Given the description of an element on the screen output the (x, y) to click on. 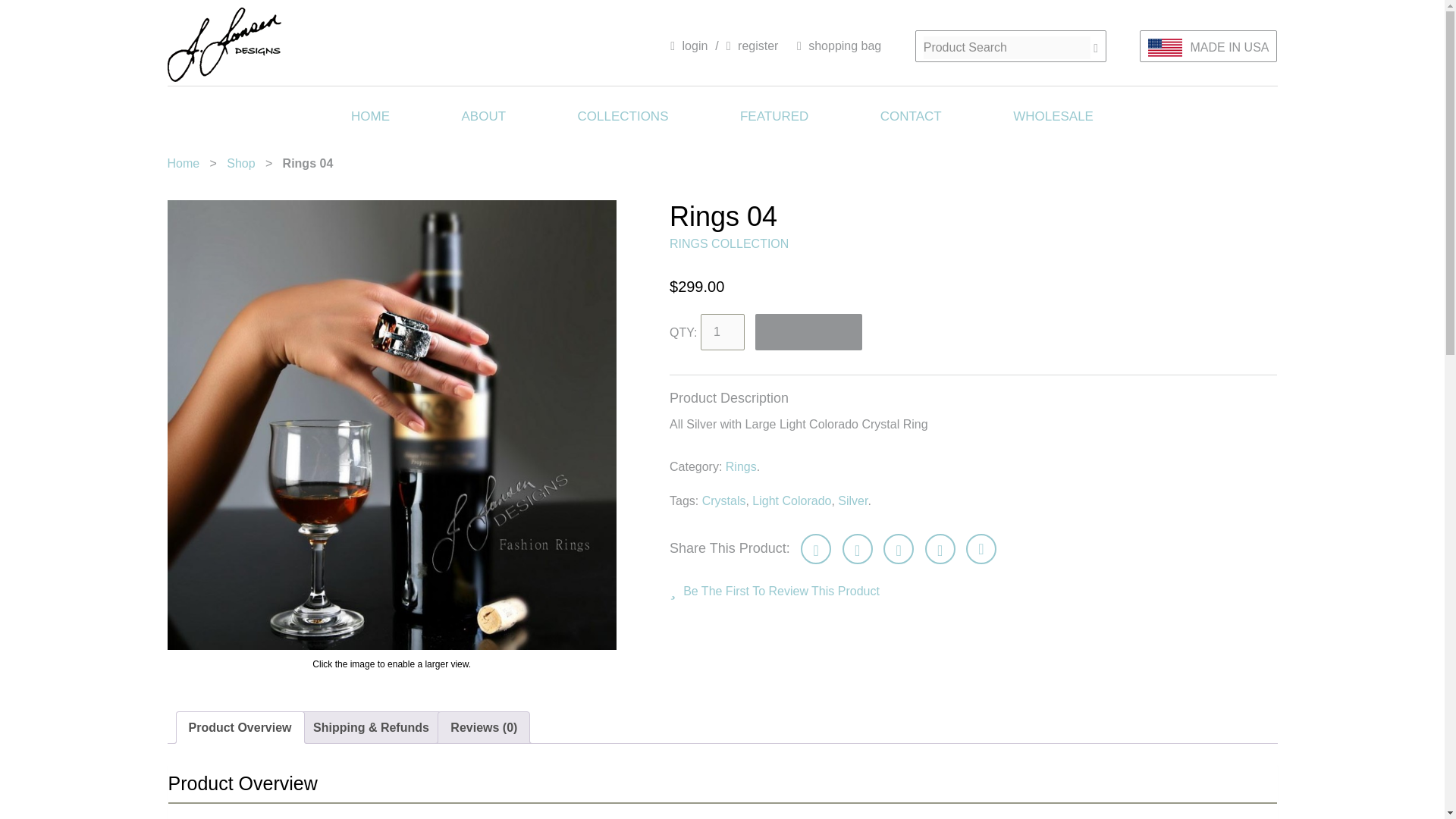
HOME (370, 115)
register (752, 45)
Made In The USA (1165, 47)
J Jansen Designs (224, 44)
shopping bag (838, 45)
login (688, 45)
1 (722, 331)
Qty (722, 331)
COLLECTIONS (622, 115)
Be The First To Review This Product (774, 587)
ABOUT (484, 115)
